Given the description of an element on the screen output the (x, y) to click on. 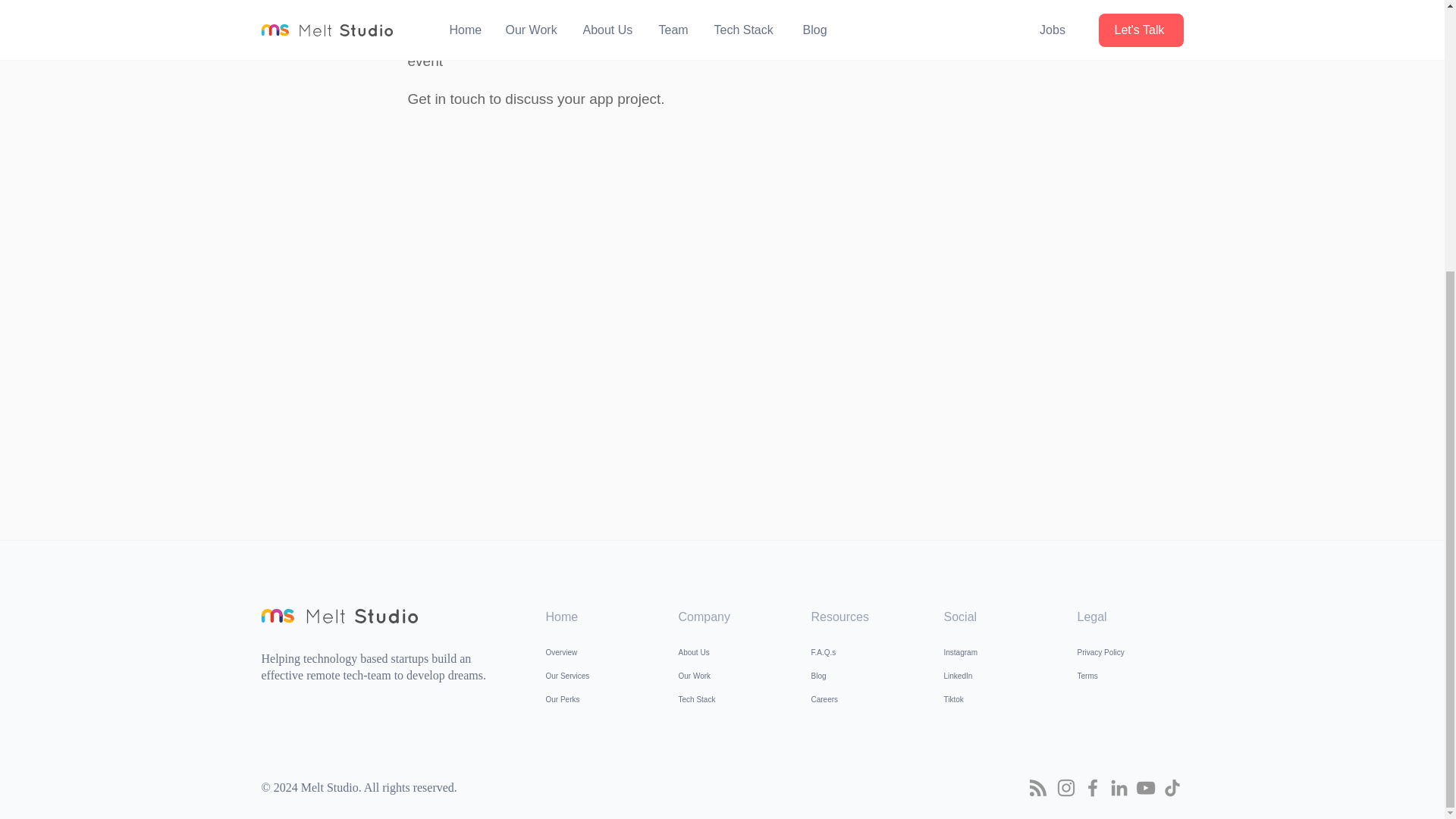
Instagram (996, 652)
About Us (731, 652)
Privacy Policy (1129, 652)
Our Services (599, 675)
LinkedIn (996, 675)
Tech Stack (731, 699)
Terms (1129, 675)
Tiktok (996, 699)
Overview (599, 652)
F.A.Q.s (863, 652)
